Given the description of an element on the screen output the (x, y) to click on. 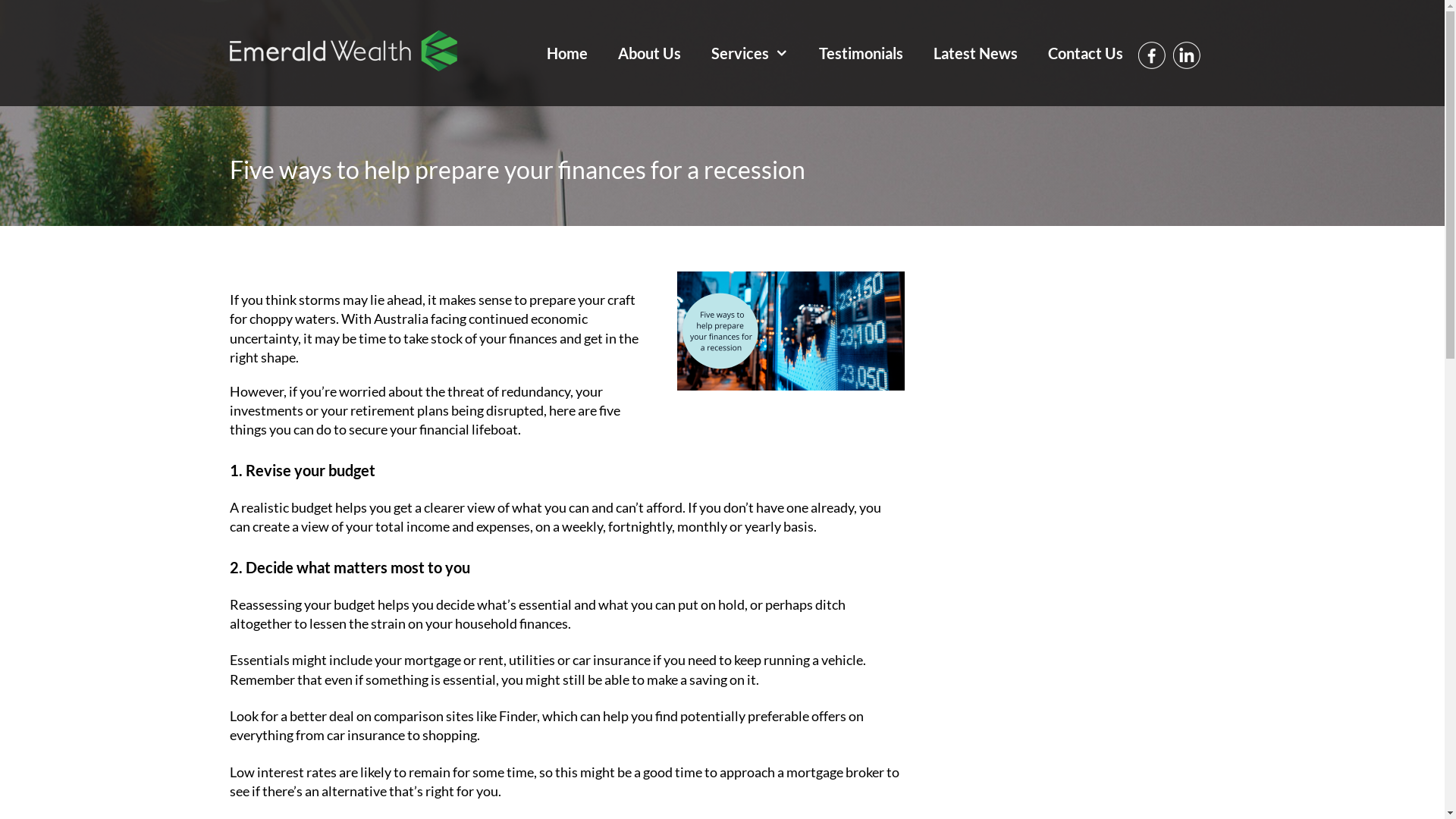
Home Element type: text (566, 52)
Contact Us Element type: text (1085, 52)
Testimonials Element type: text (860, 52)
About Us Element type: text (648, 52)
Latest News Element type: text (974, 52)
Services Element type: text (749, 52)
